Given the description of an element on the screen output the (x, y) to click on. 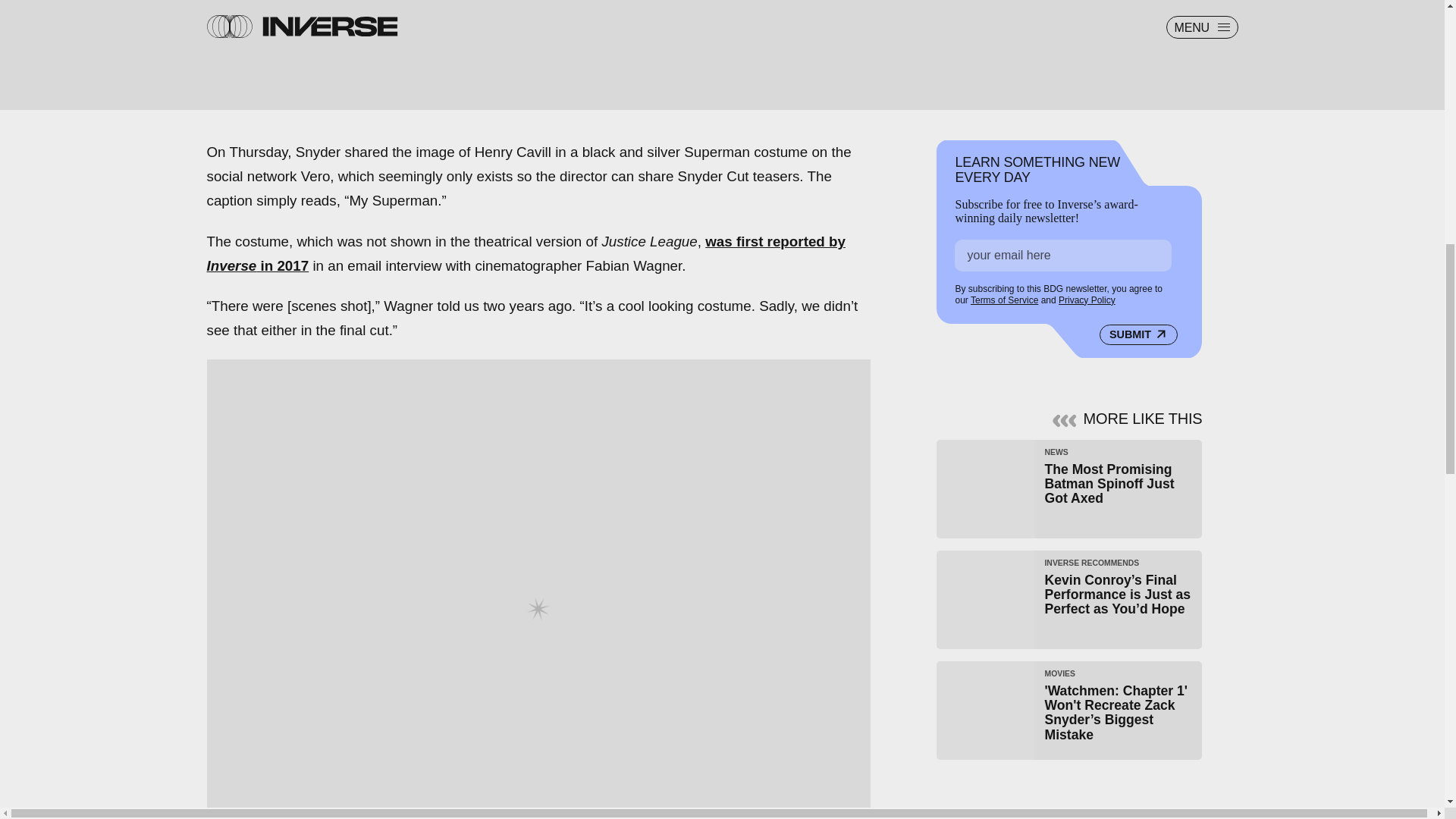
was first reported by Inverse in 2017 (525, 253)
SUBMIT (1138, 334)
Terms of Service (1004, 299)
Privacy Policy (1069, 488)
